Given the description of an element on the screen output the (x, y) to click on. 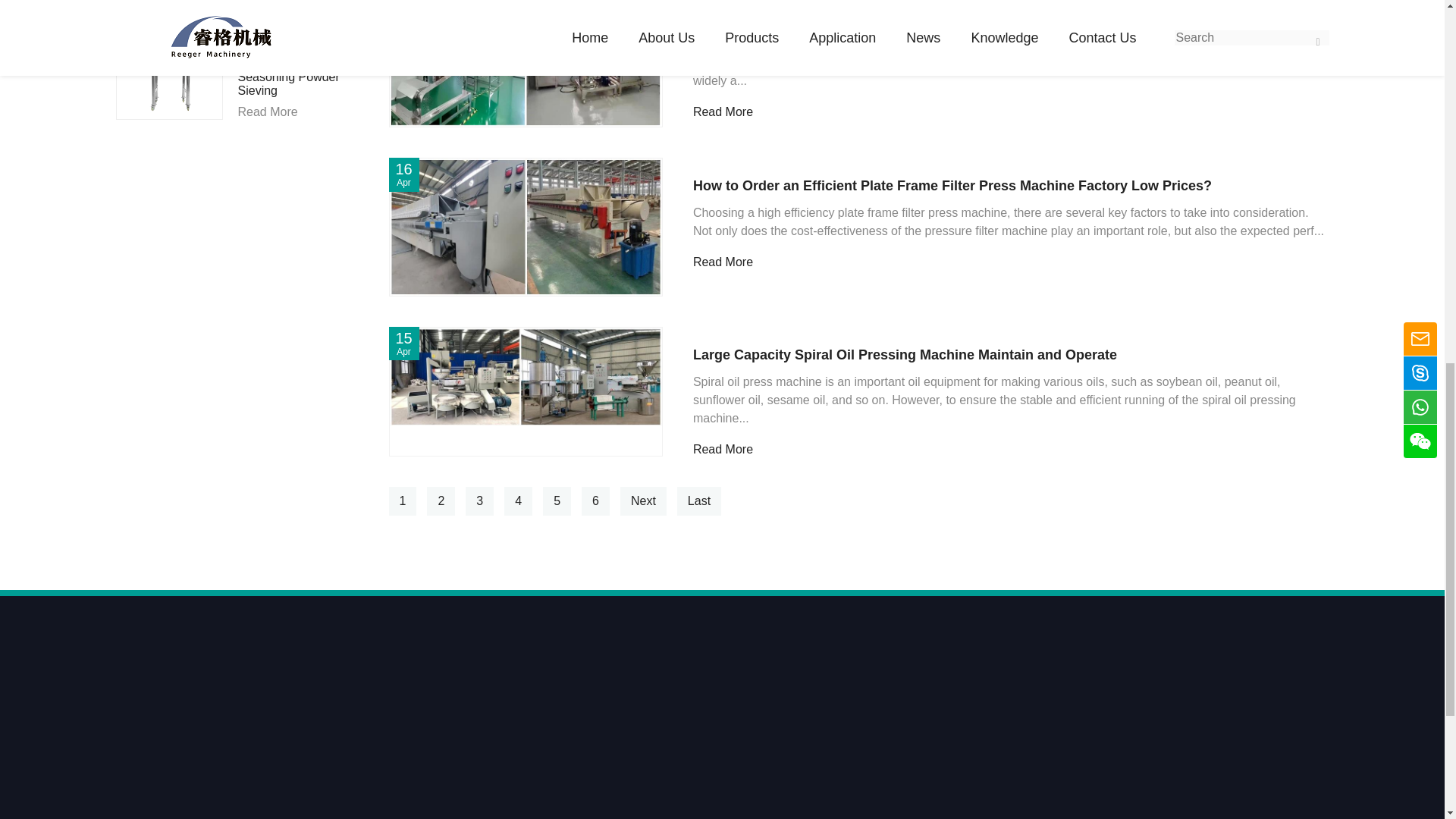
last (698, 500)
